Given the description of an element on the screen output the (x, y) to click on. 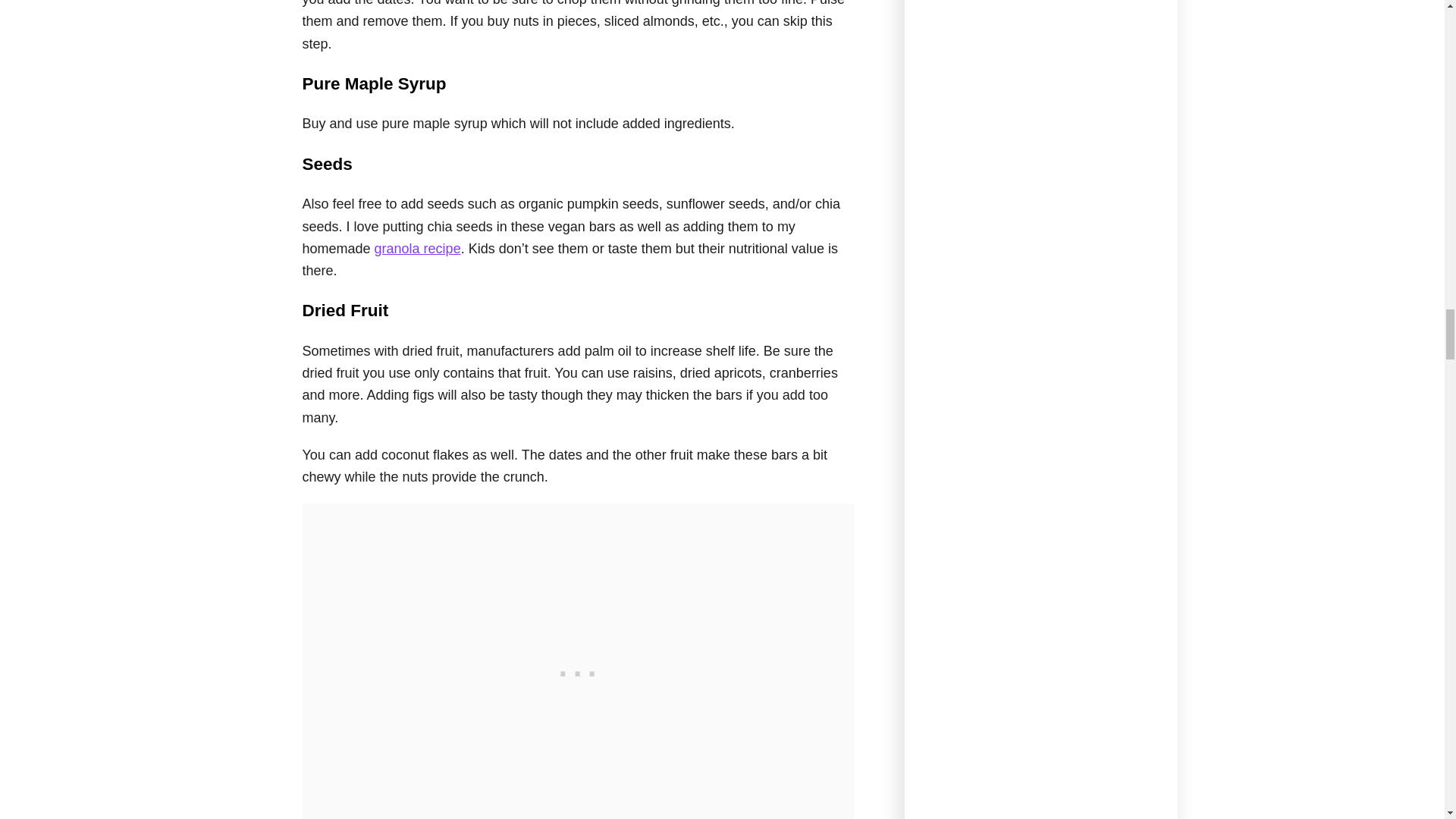
granola recipe (417, 248)
